Given the description of an element on the screen output the (x, y) to click on. 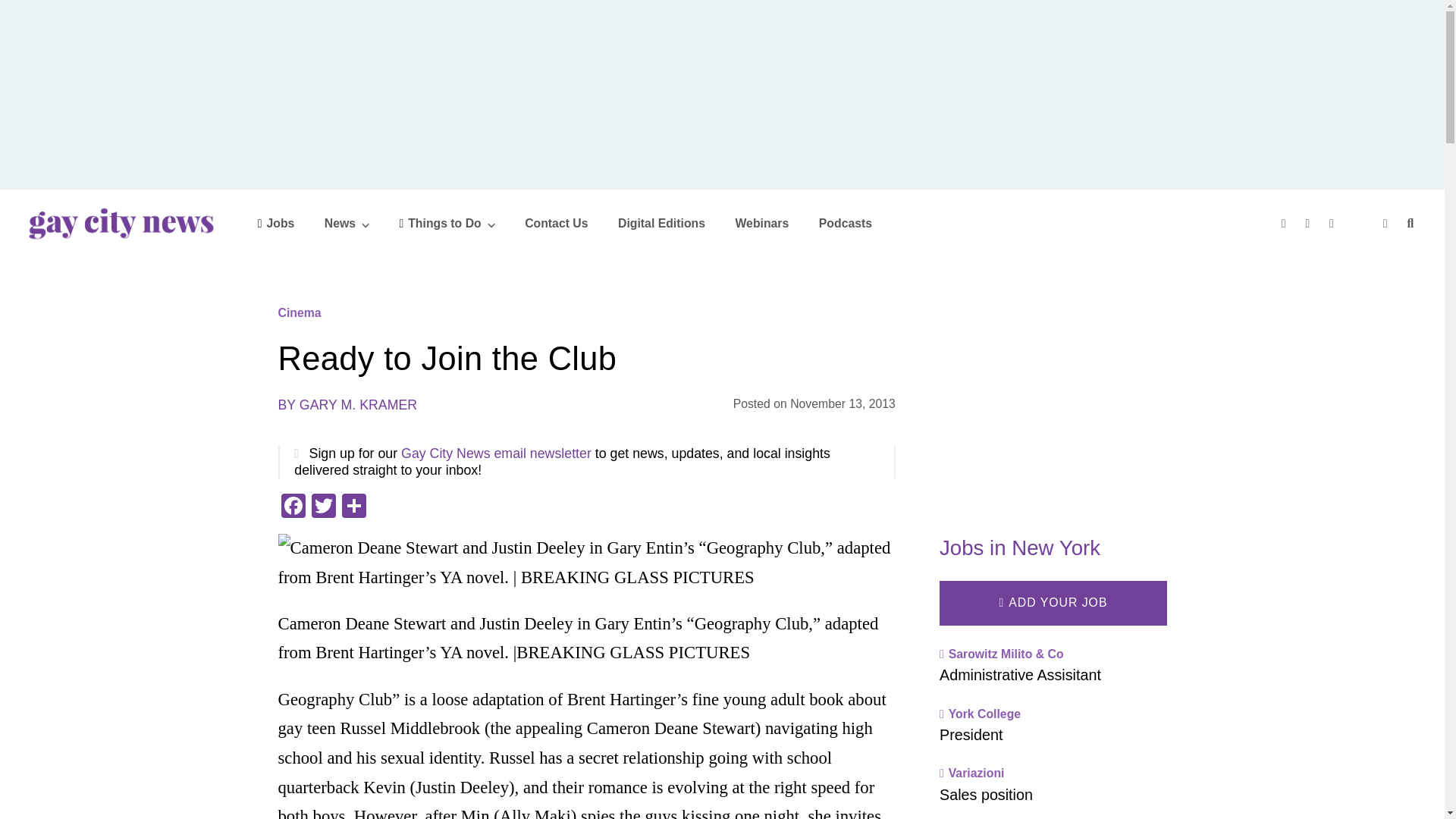
Webinars (762, 223)
Facebook (292, 507)
Contact Us (556, 223)
Twitter (322, 507)
Things to Do (446, 223)
Jobs (276, 223)
Digital Editions (660, 223)
News (346, 223)
Podcasts (845, 223)
